Given the description of an element on the screen output the (x, y) to click on. 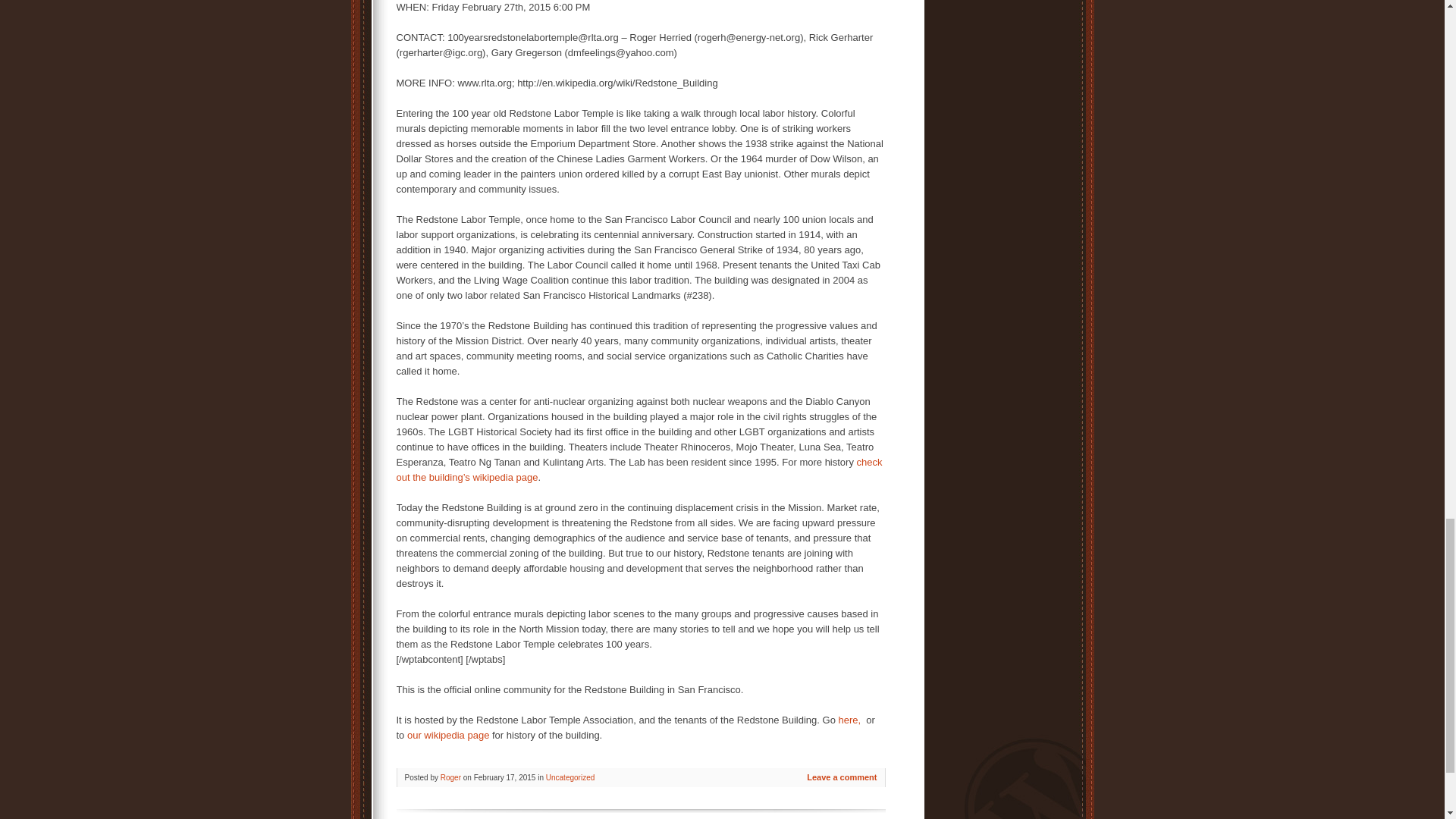
our wikipedia page (448, 735)
here,  (852, 719)
Uncategorized (570, 777)
Leave a comment (841, 777)
Roger (451, 777)
Posts by Roger (451, 777)
